Given the description of an element on the screen output the (x, y) to click on. 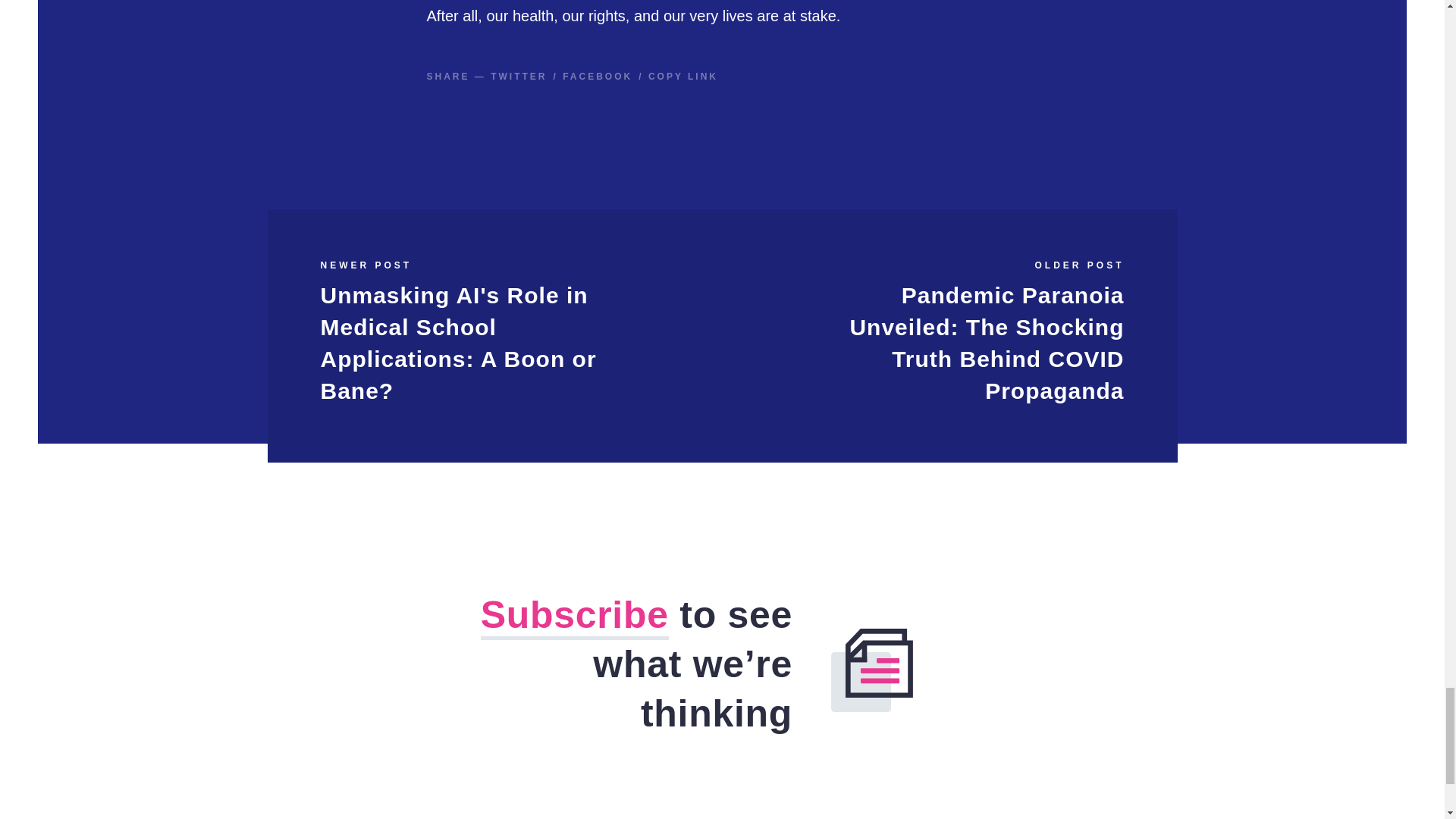
TWITTER (518, 76)
FACEBOOK (596, 76)
COPY LINK (682, 76)
Subscribe (574, 616)
